Given the description of an element on the screen output the (x, y) to click on. 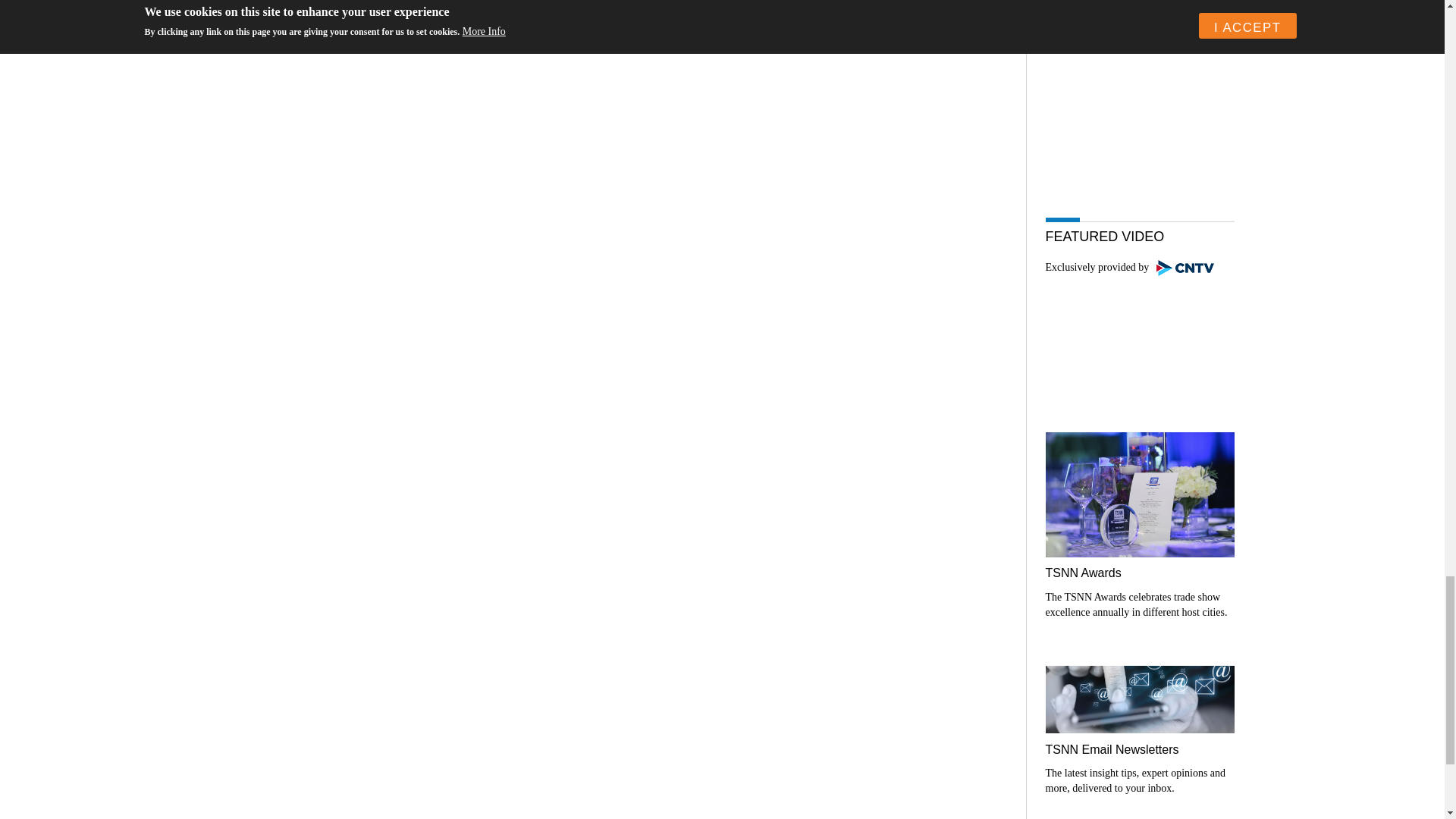
3rd party ad content (1139, 111)
vimeo-player (1139, 340)
